Given the description of an element on the screen output the (x, y) to click on. 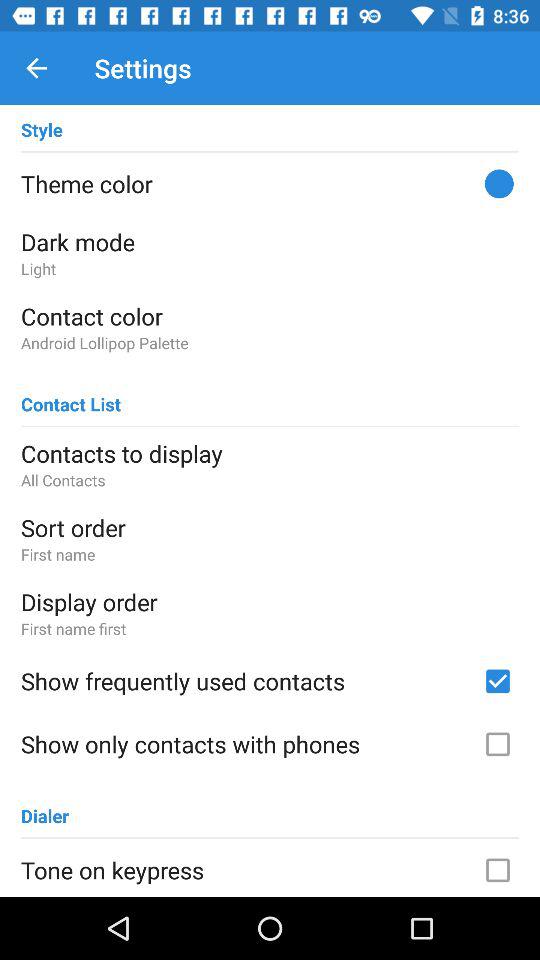
press icon above show only contacts item (245, 681)
